Given the description of an element on the screen output the (x, y) to click on. 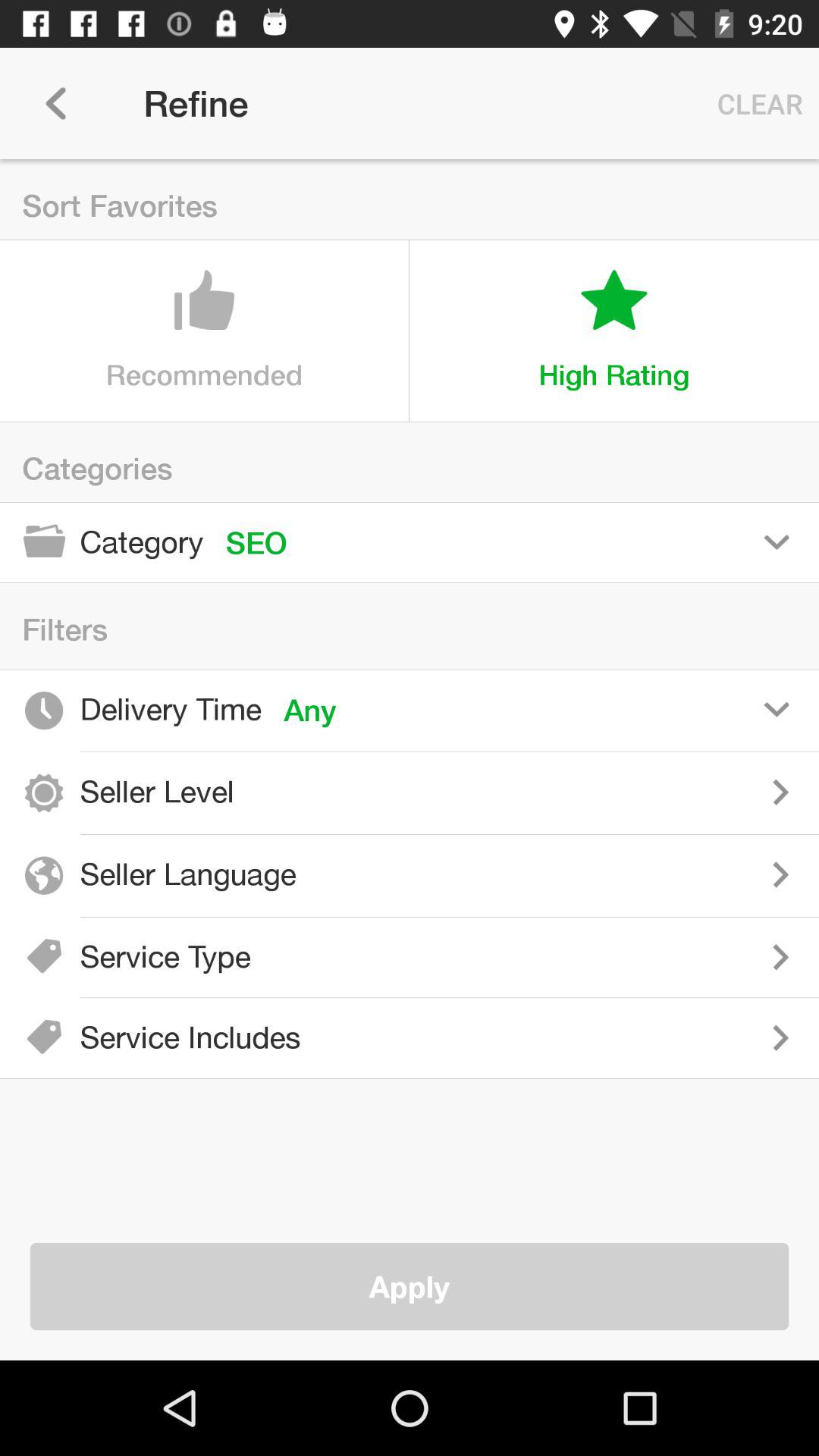
go to service type filter options (546, 956)
